Given the description of an element on the screen output the (x, y) to click on. 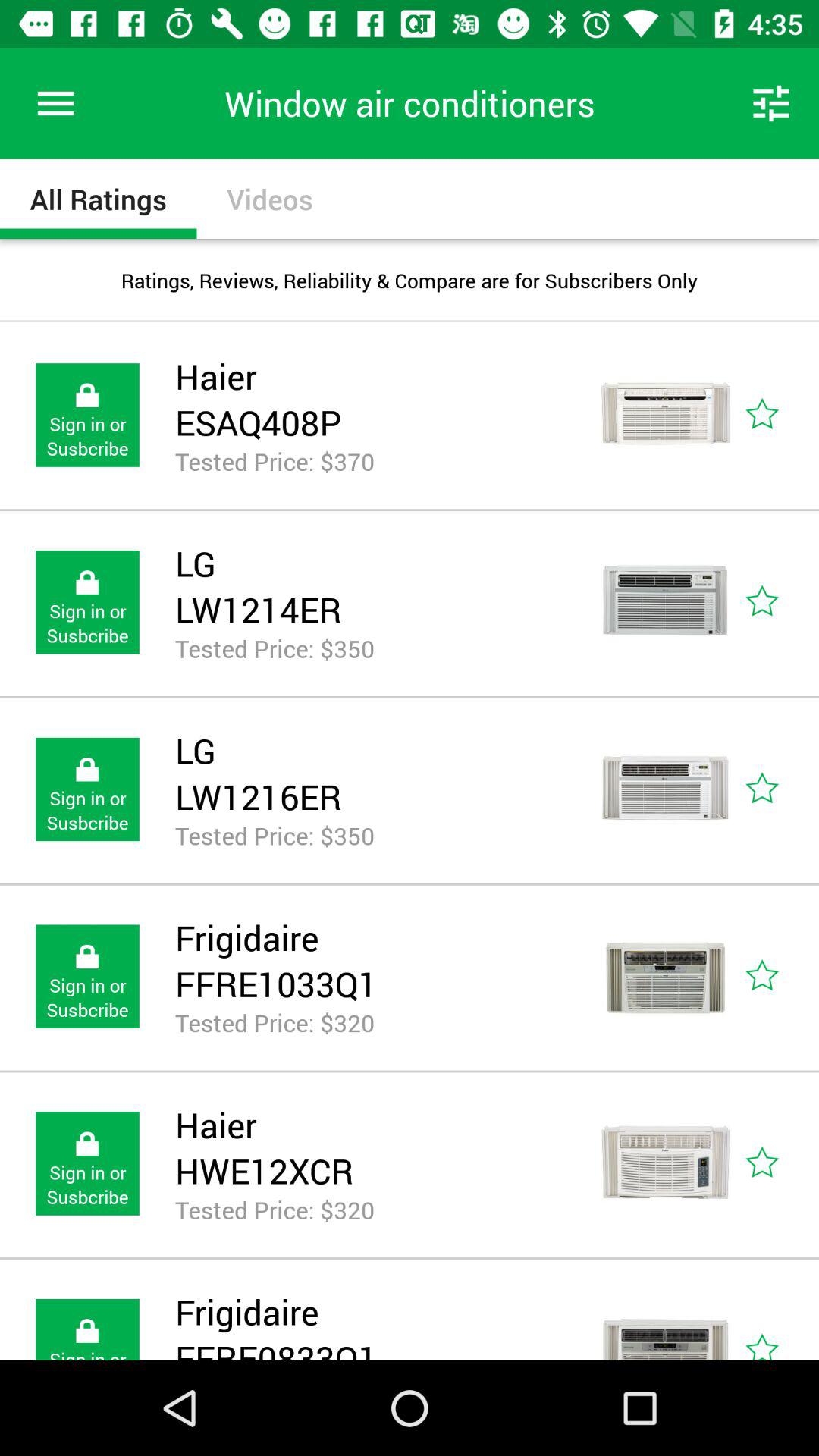
favorite review (779, 602)
